Given the description of an element on the screen output the (x, y) to click on. 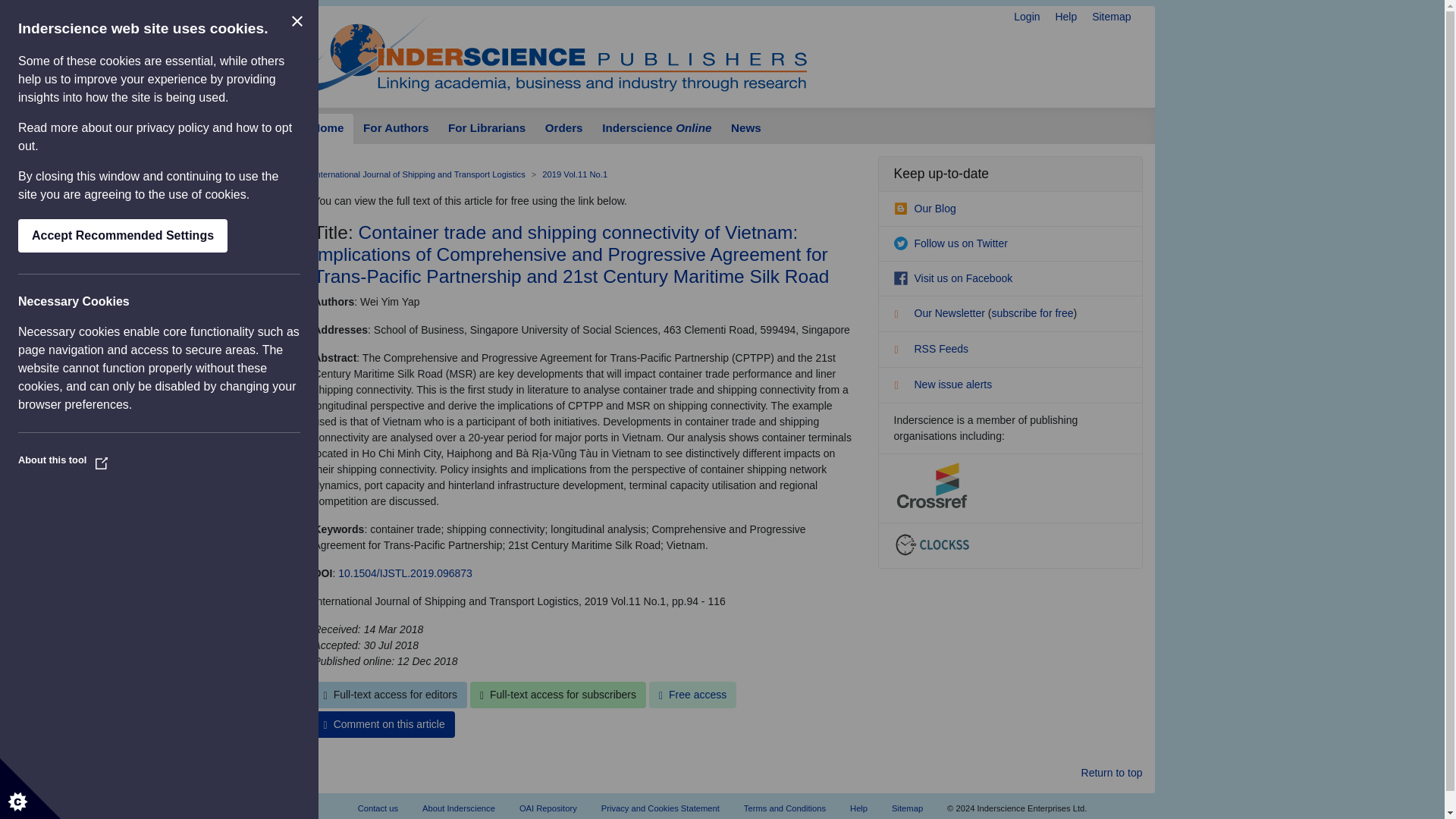
Orders (563, 128)
flag (901, 386)
Return to top (1111, 772)
Inderscience Online (656, 128)
Follow us on Twitter (950, 243)
New issue alerts (942, 384)
Our Blog (924, 208)
International Journal of Shipping and Transport Logistics (419, 174)
News (745, 128)
Login (1026, 16)
Full-text access for subscribers (558, 694)
Return to the top of the page (1111, 772)
Sitemap (1111, 16)
2019 Vol.11 No.1 (574, 174)
